Given the description of an element on the screen output the (x, y) to click on. 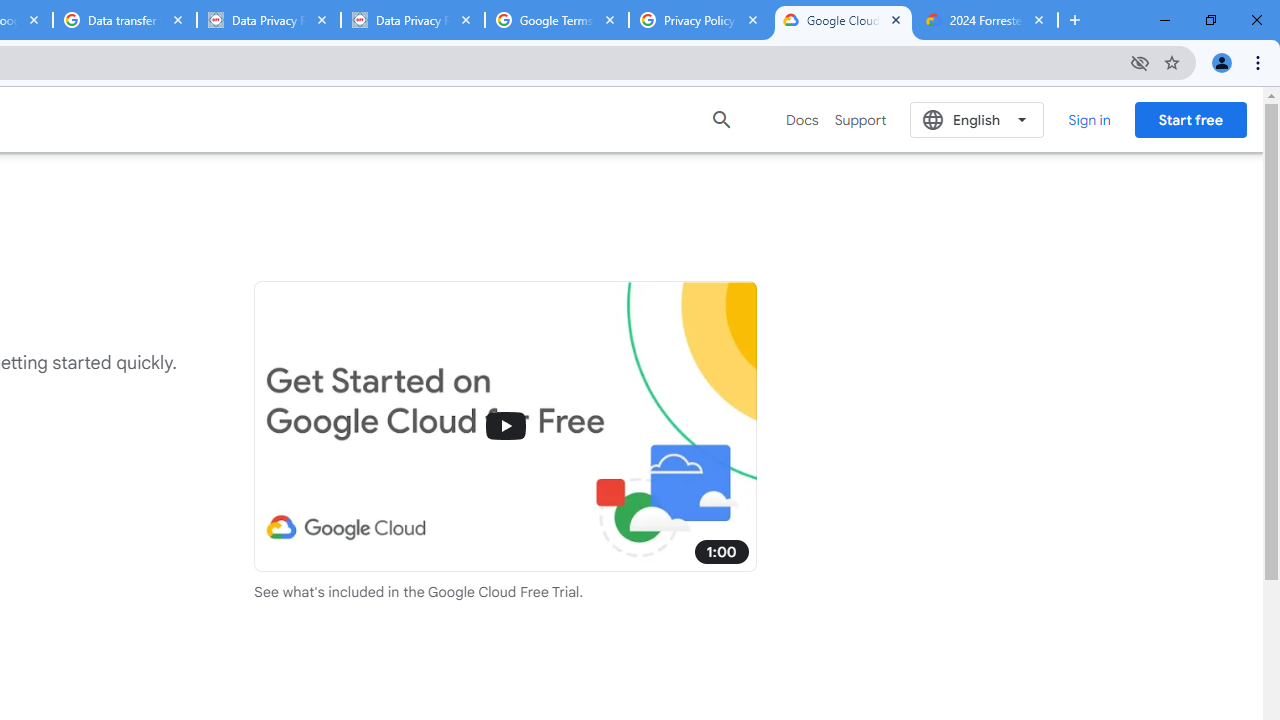
Start free (1190, 119)
Docs (802, 119)
